Given the description of an element on the screen output the (x, y) to click on. 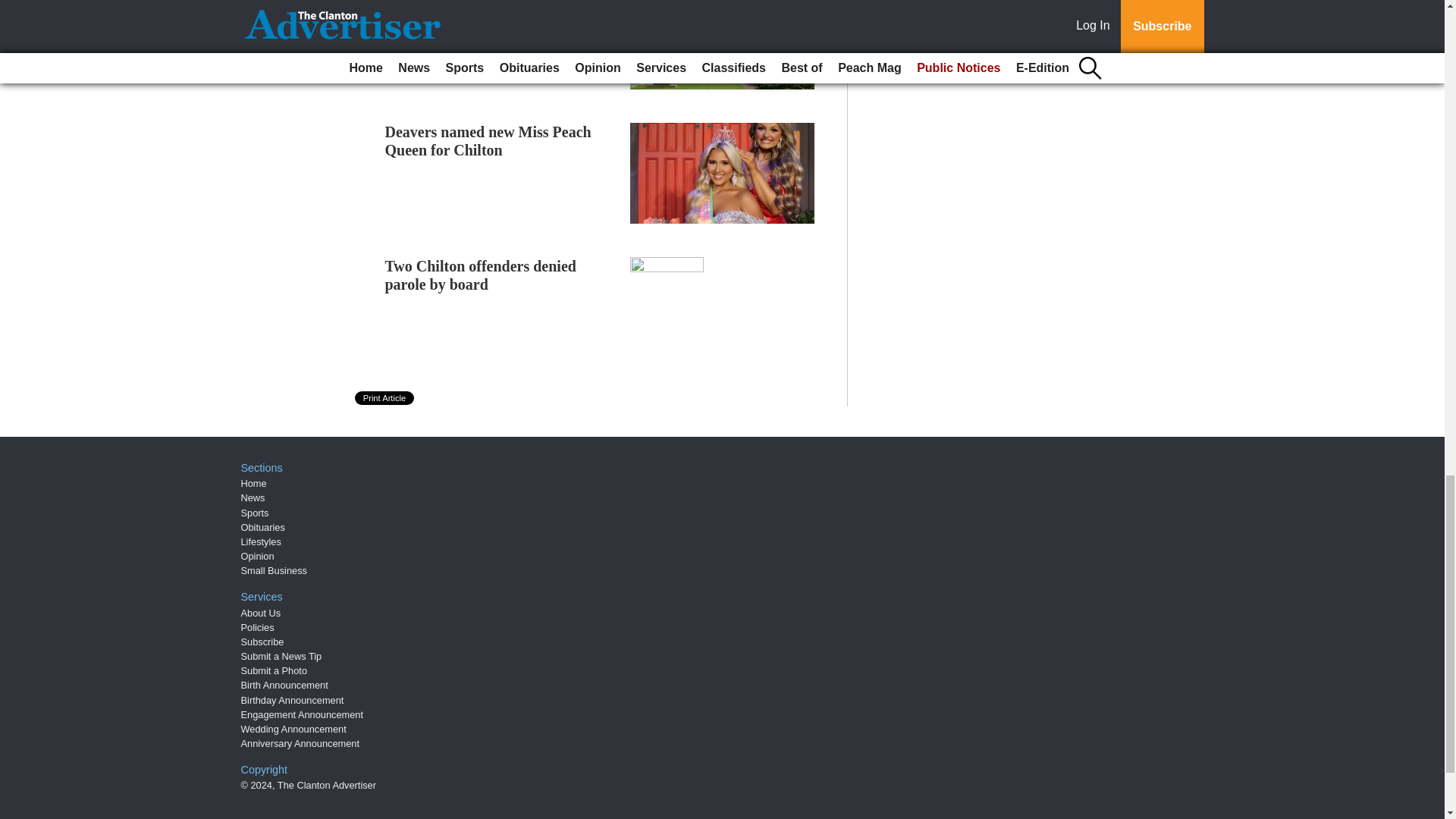
News (252, 497)
Home (253, 482)
Deavers named new Miss Peach Queen for Chilton (488, 140)
Two Chilton offenders denied parole by board (480, 274)
Print Article (384, 397)
Deavers named new Miss Peach Queen for Chilton (488, 140)
Two Chilton offenders denied parole by board (480, 274)
